Given the description of an element on the screen output the (x, y) to click on. 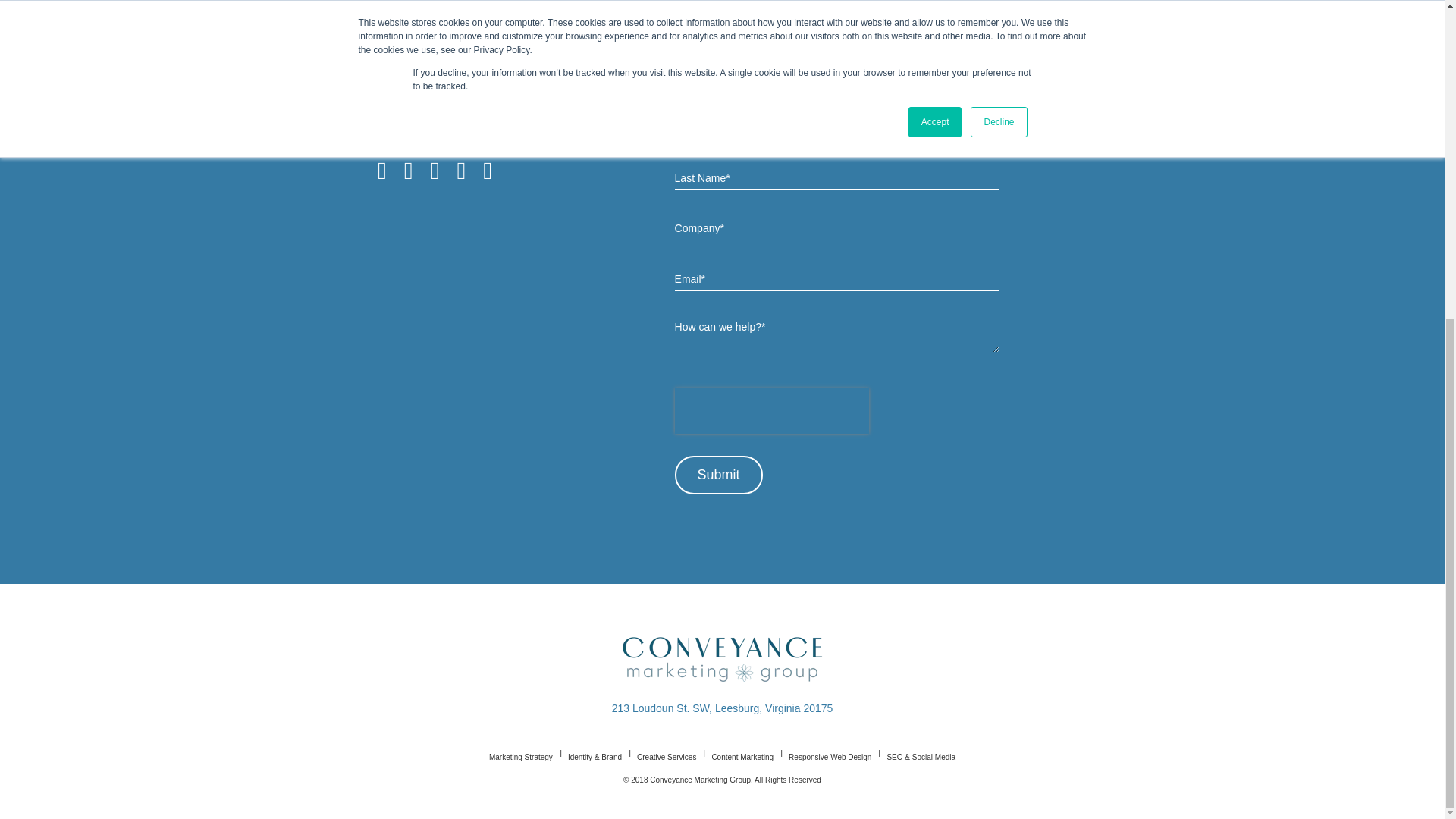
Submit (718, 474)
Marketing Strategy (521, 757)
Submit (718, 474)
Responsive Web Design (829, 757)
Content Marketing (742, 757)
reCAPTCHA (772, 411)
Creative Services (666, 757)
